Given the description of an element on the screen output the (x, y) to click on. 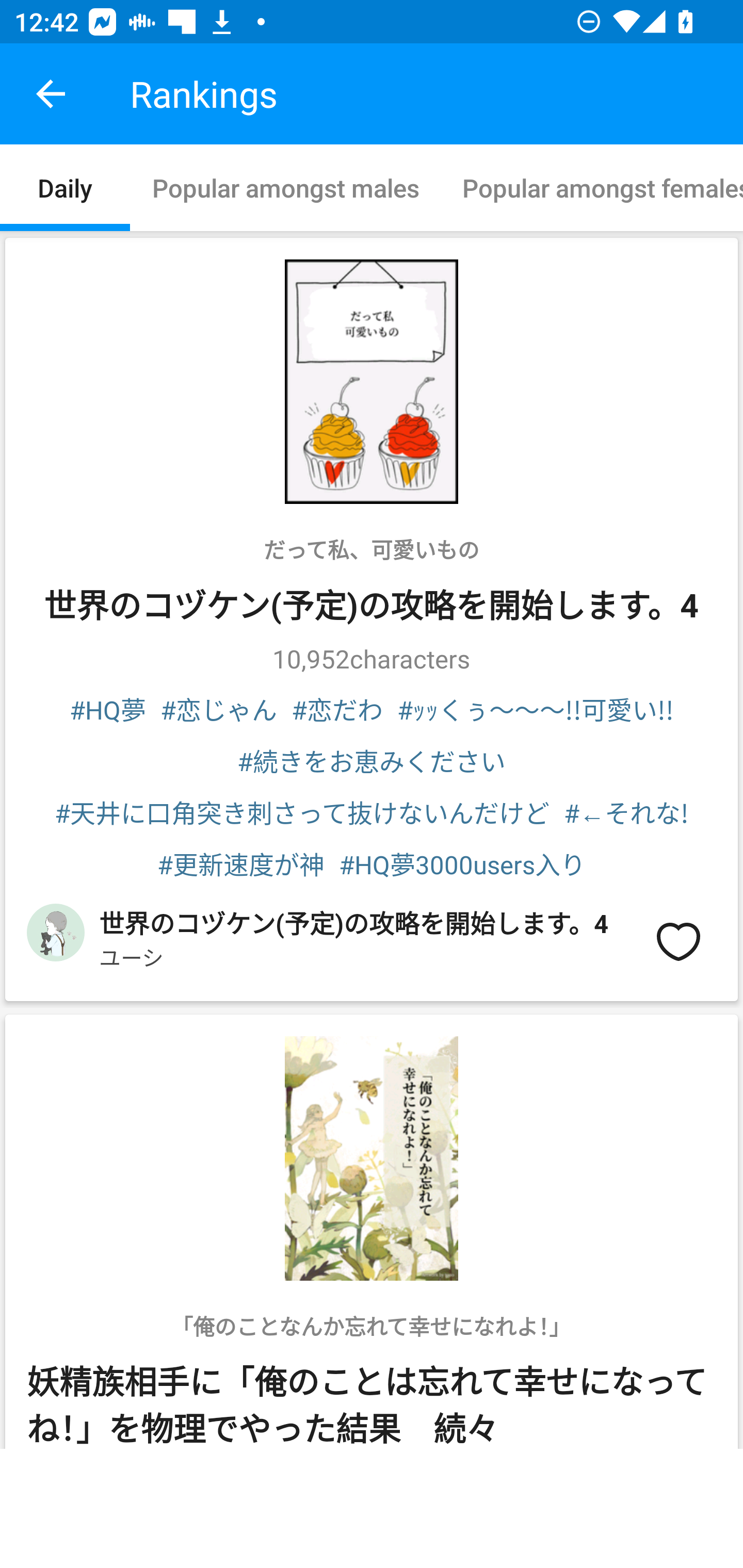
Navigate up (50, 93)
Popular amongst males (285, 187)
Popular amongst females (591, 187)
だって私、可愛いもの (371, 548)
#HQ夢 (107, 708)
#恋じゃん (218, 708)
#恋だわ (336, 708)
#ｯｯくぅ〜〜〜!!可愛い!! (535, 708)
#続きをお恵みください (371, 760)
#天井に口角突き刺さって抜けないんだけど (301, 812)
#←それな! (625, 812)
#更新速度が神 (240, 863)
#HQ夢3000users入り (461, 863)
「俺のことなんか忘れて幸せになれよ！」 (371, 1325)
